Given the description of an element on the screen output the (x, y) to click on. 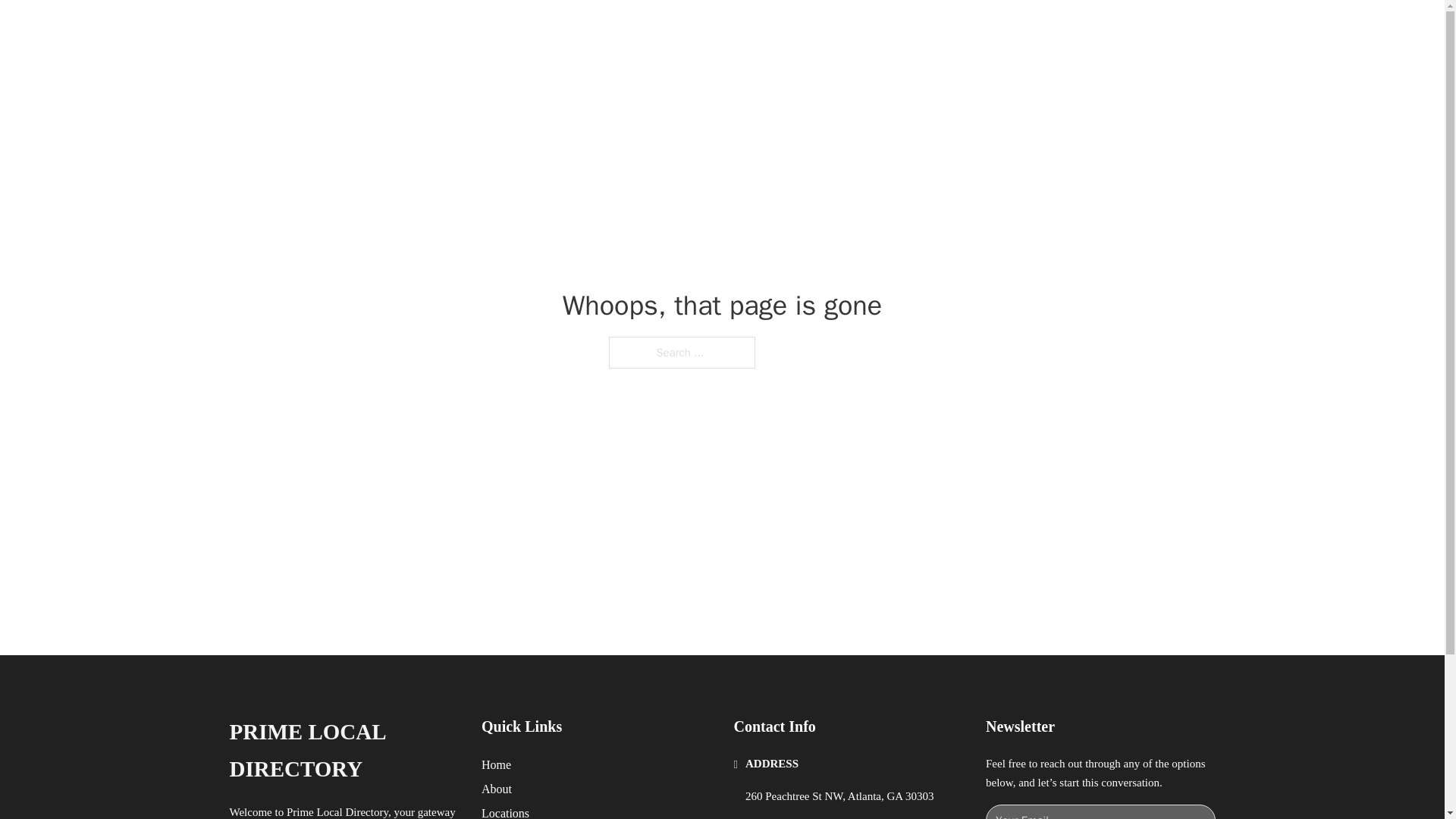
PRIME LOCAL DIRECTORY (343, 750)
LOCATIONS (990, 29)
Locations (505, 811)
Home (496, 764)
About (496, 788)
HOME (919, 29)
PRIME LOCAL DIRECTORY (435, 28)
